Given the description of an element on the screen output the (x, y) to click on. 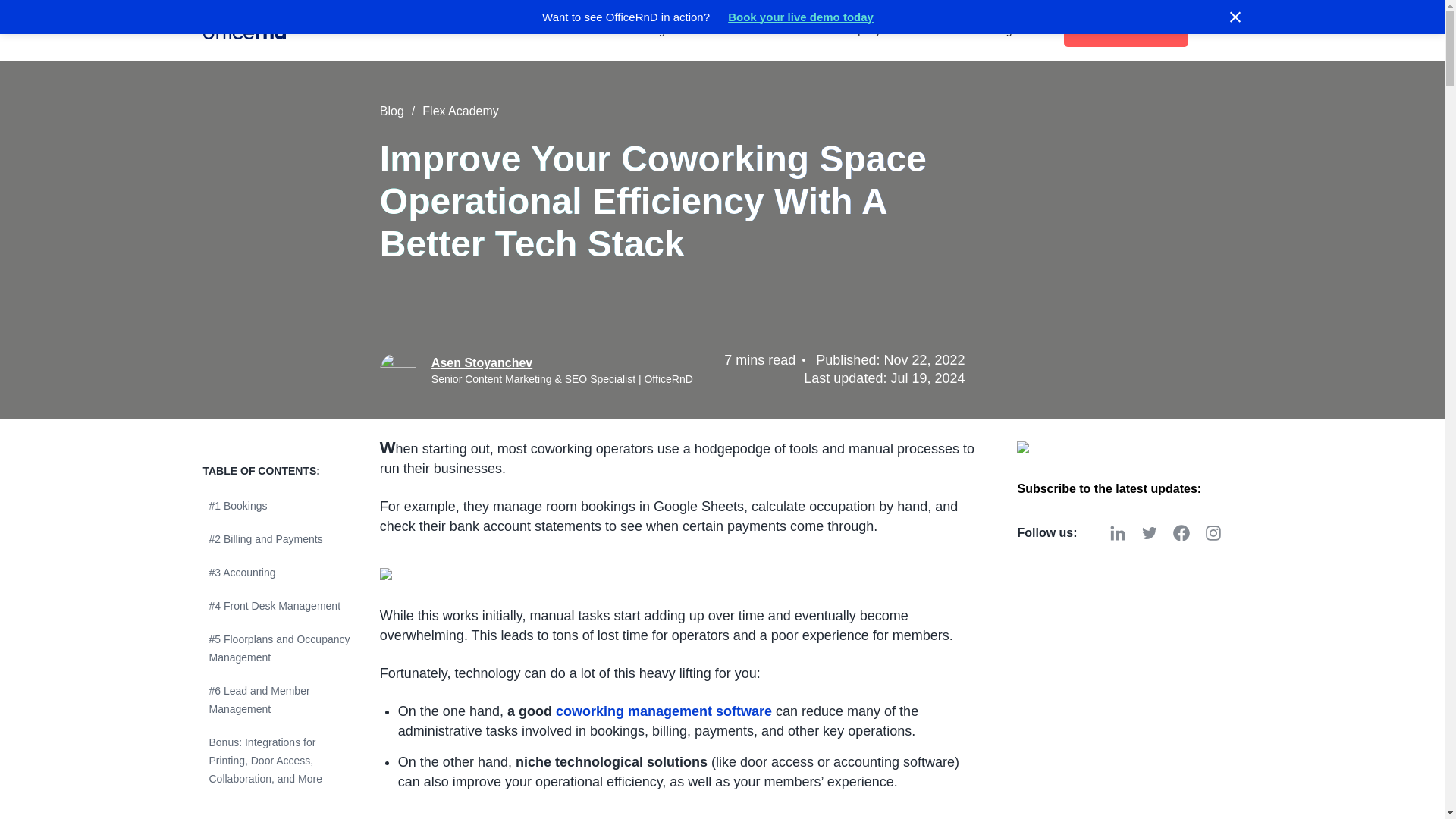
Book your live demo today (800, 17)
Products (477, 30)
Resources (780, 30)
Pricing (678, 30)
Solutions (579, 30)
